Given the description of an element on the screen output the (x, y) to click on. 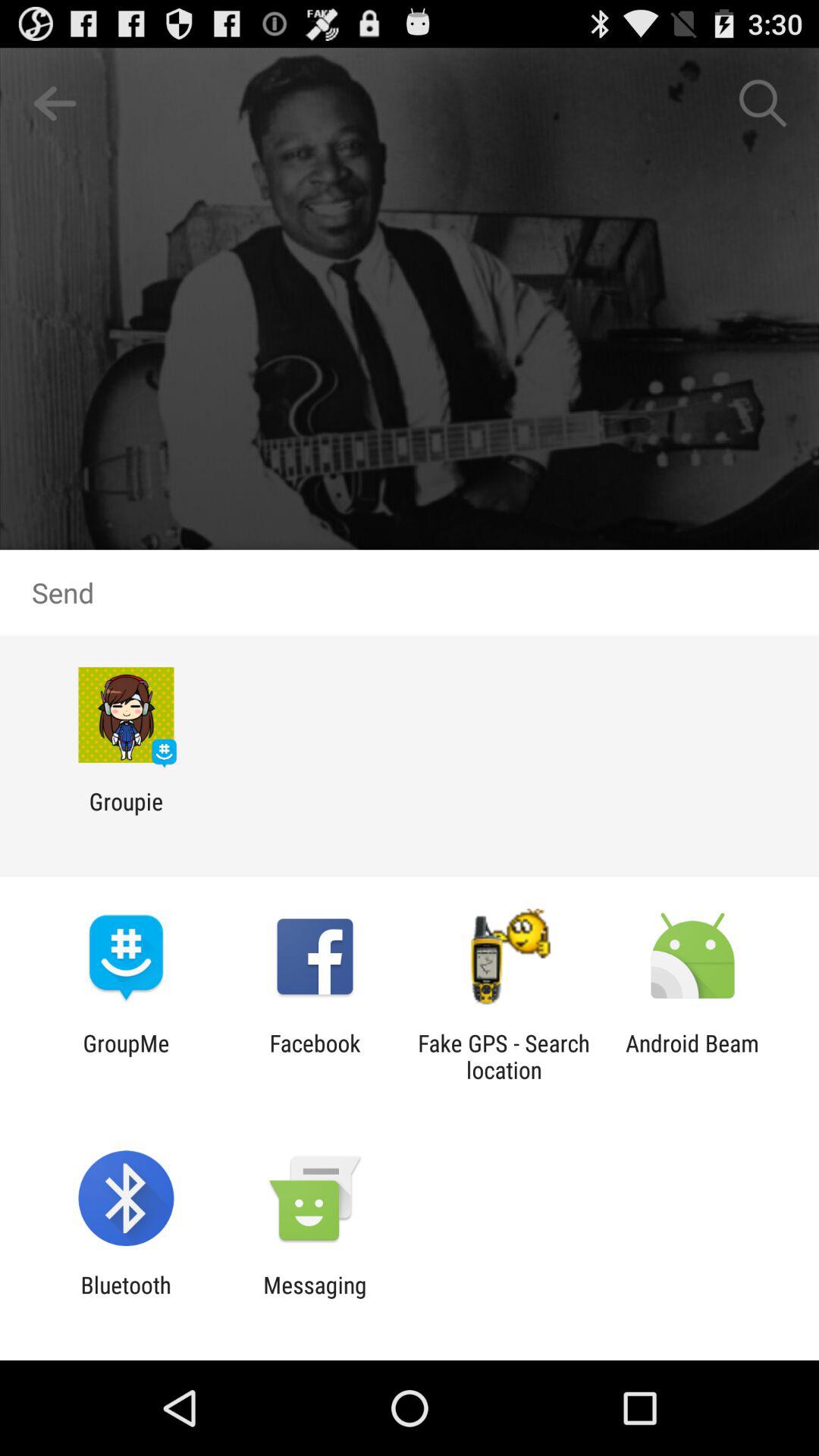
tap the messaging app (314, 1298)
